Given the description of an element on the screen output the (x, y) to click on. 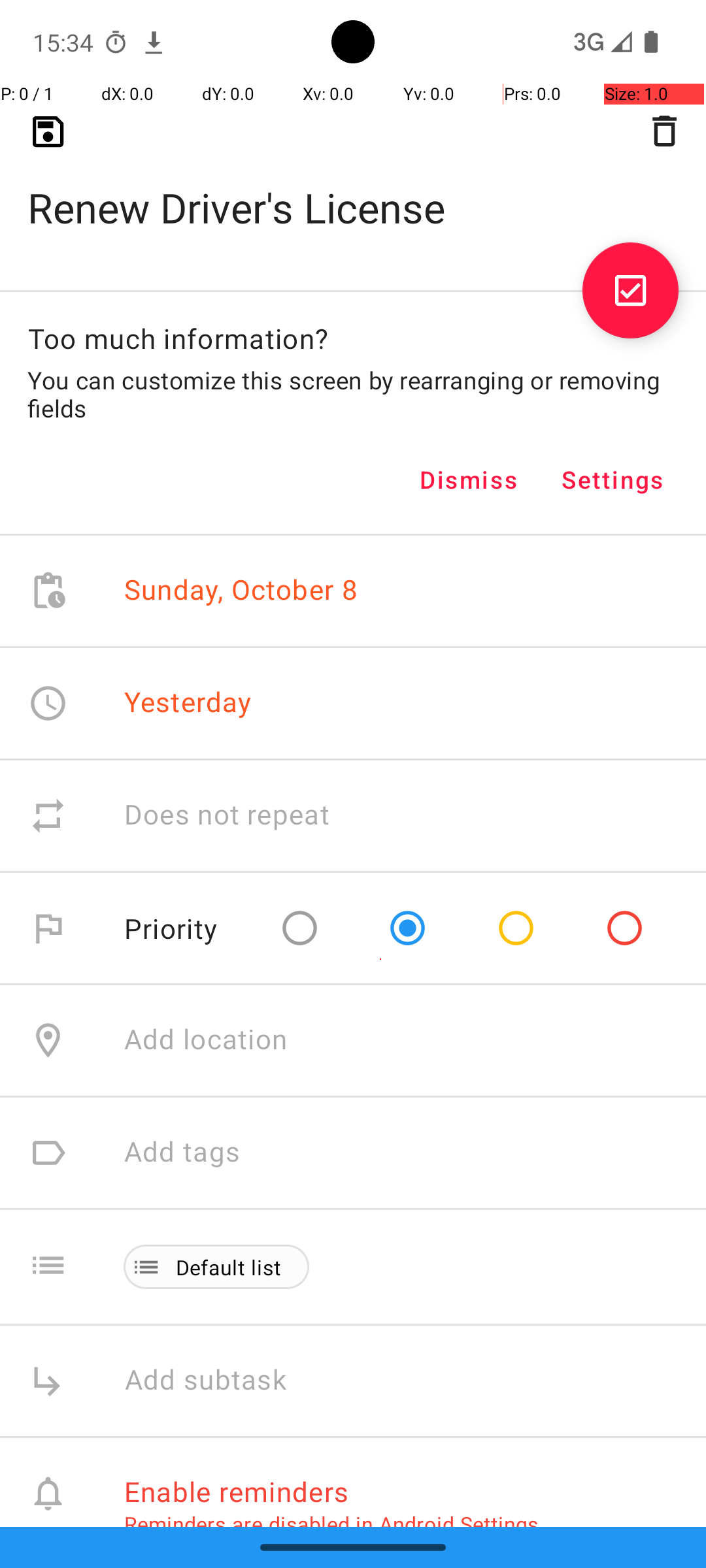
Sunday, October 8 Element type: android.widget.TextView (240, 590)
